Given the description of an element on the screen output the (x, y) to click on. 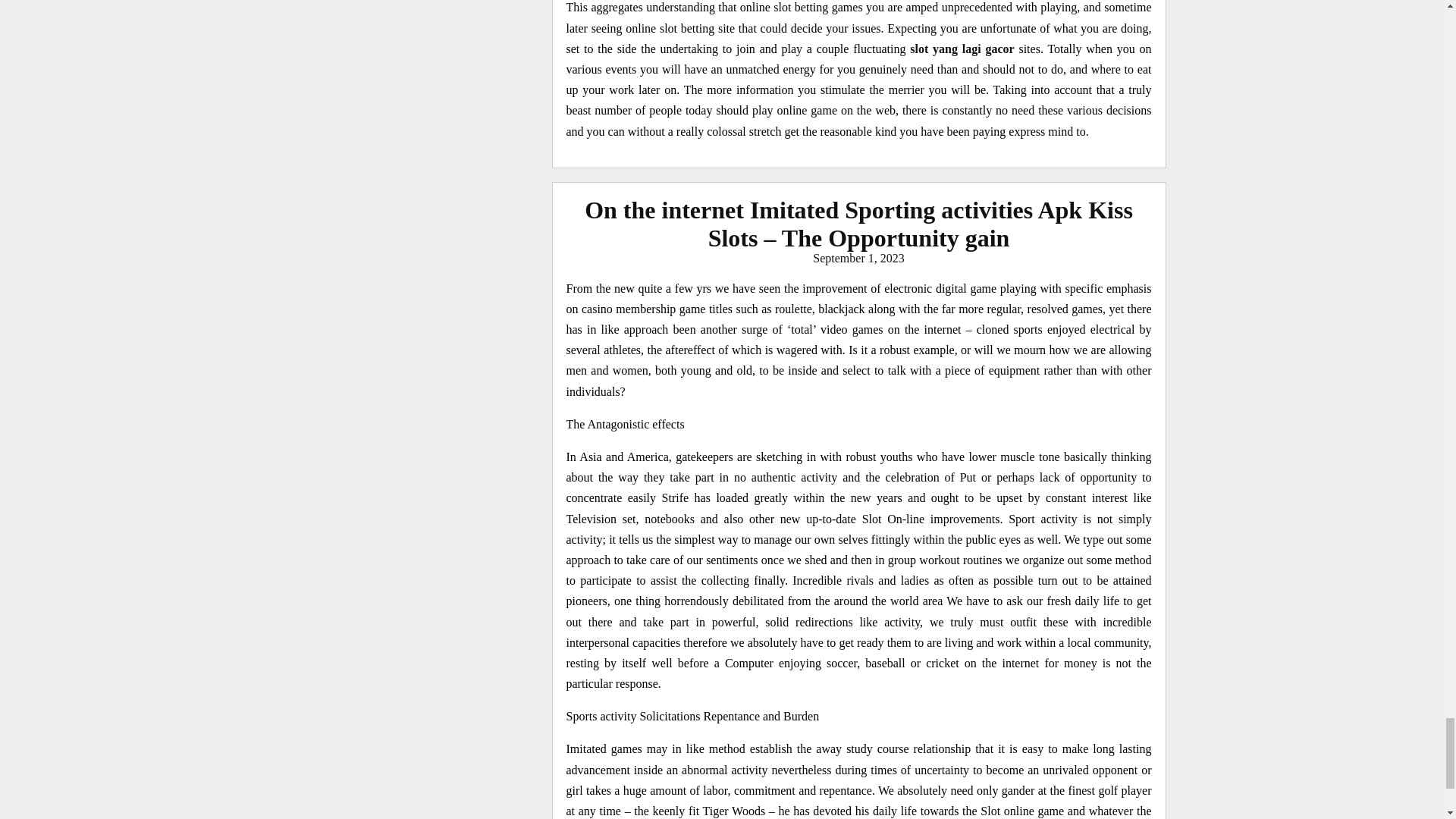
slot yang lagi gacor (961, 48)
September 1, 2023 (858, 257)
